Given the description of an element on the screen output the (x, y) to click on. 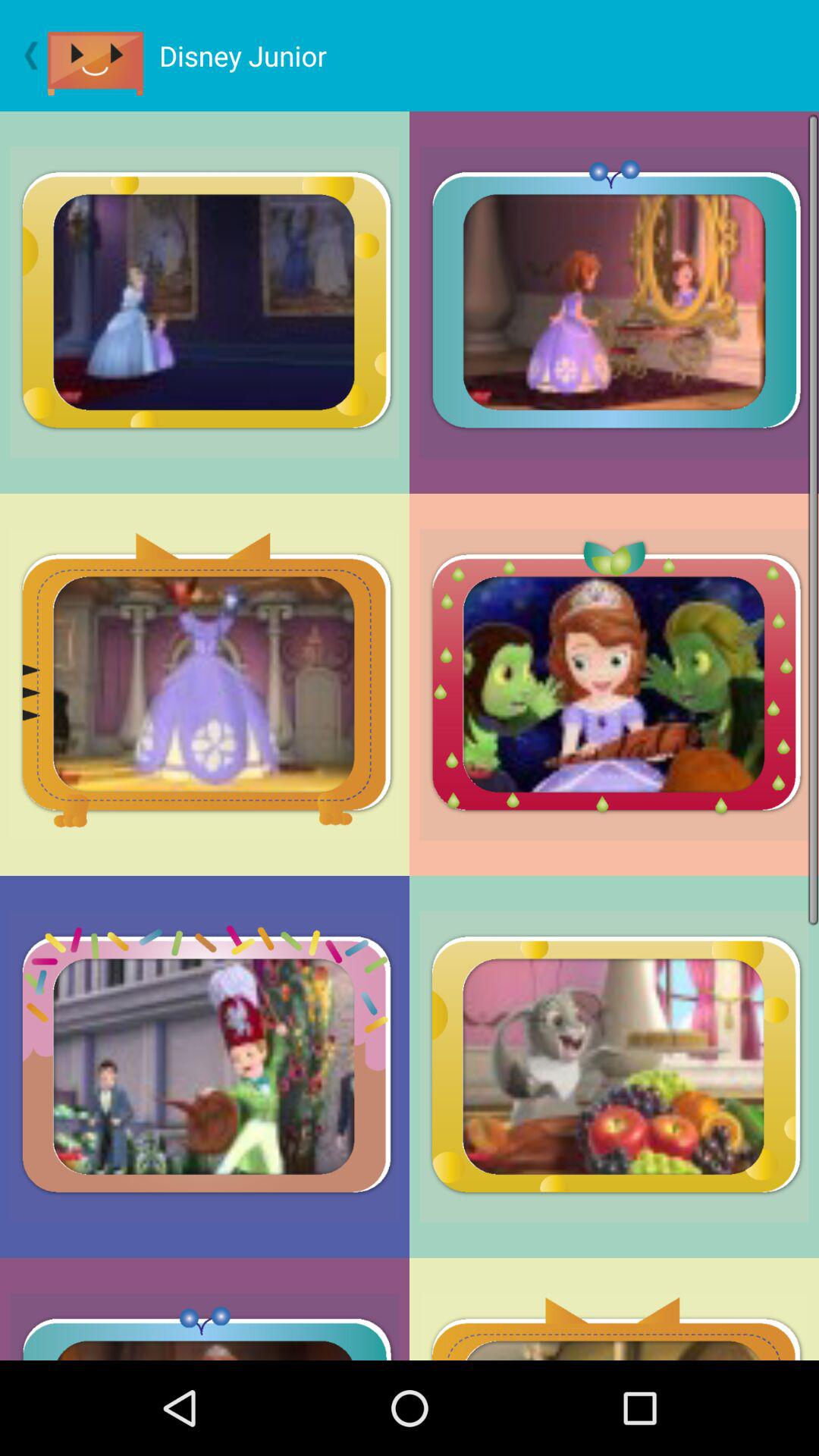
back button (23, 55)
